Given the description of an element on the screen output the (x, y) to click on. 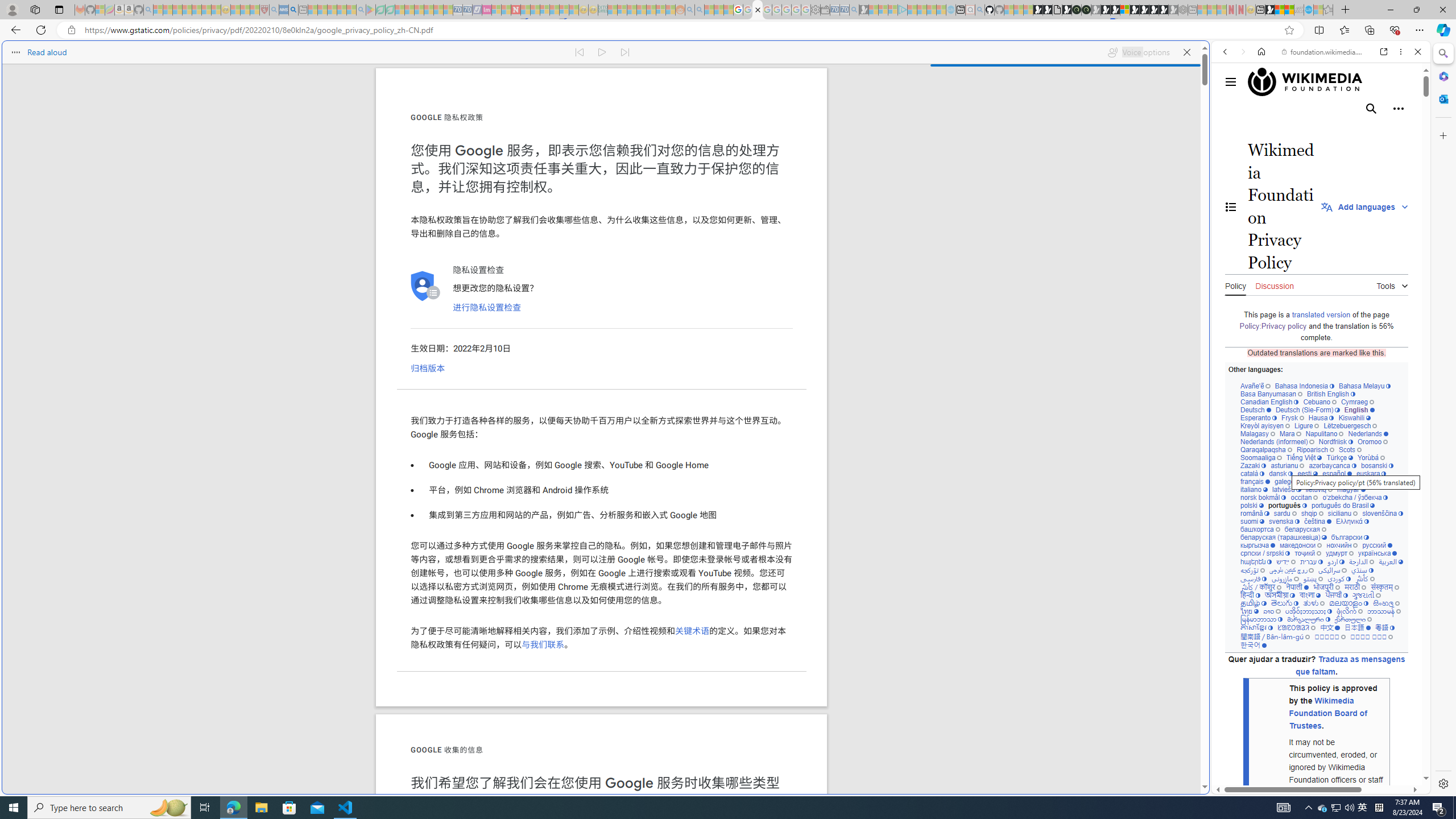
New Report Confirms 2023 Was Record Hot | Watch - Sleeping (196, 9)
sicilianu (1342, 513)
Terms of Use Agreement - Sleeping (380, 9)
Cymraeg (1357, 401)
Home | Sky Blue Bikes - Sky Blue Bikes - Sleeping (950, 9)
Wikimedia Foundation Board of Trustees (1327, 712)
interlingua (1357, 481)
